Given the description of an element on the screen output the (x, y) to click on. 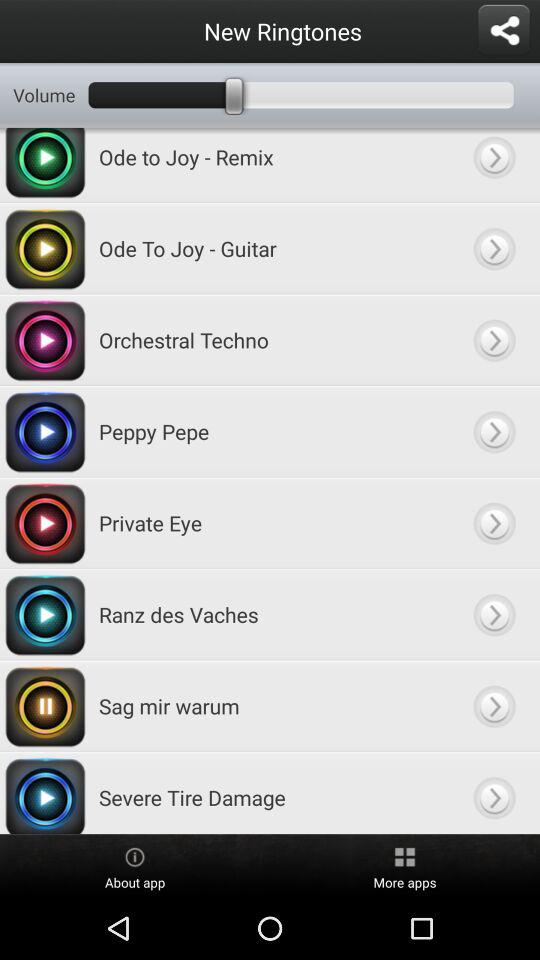
add ringtone (494, 164)
